Given the description of an element on the screen output the (x, y) to click on. 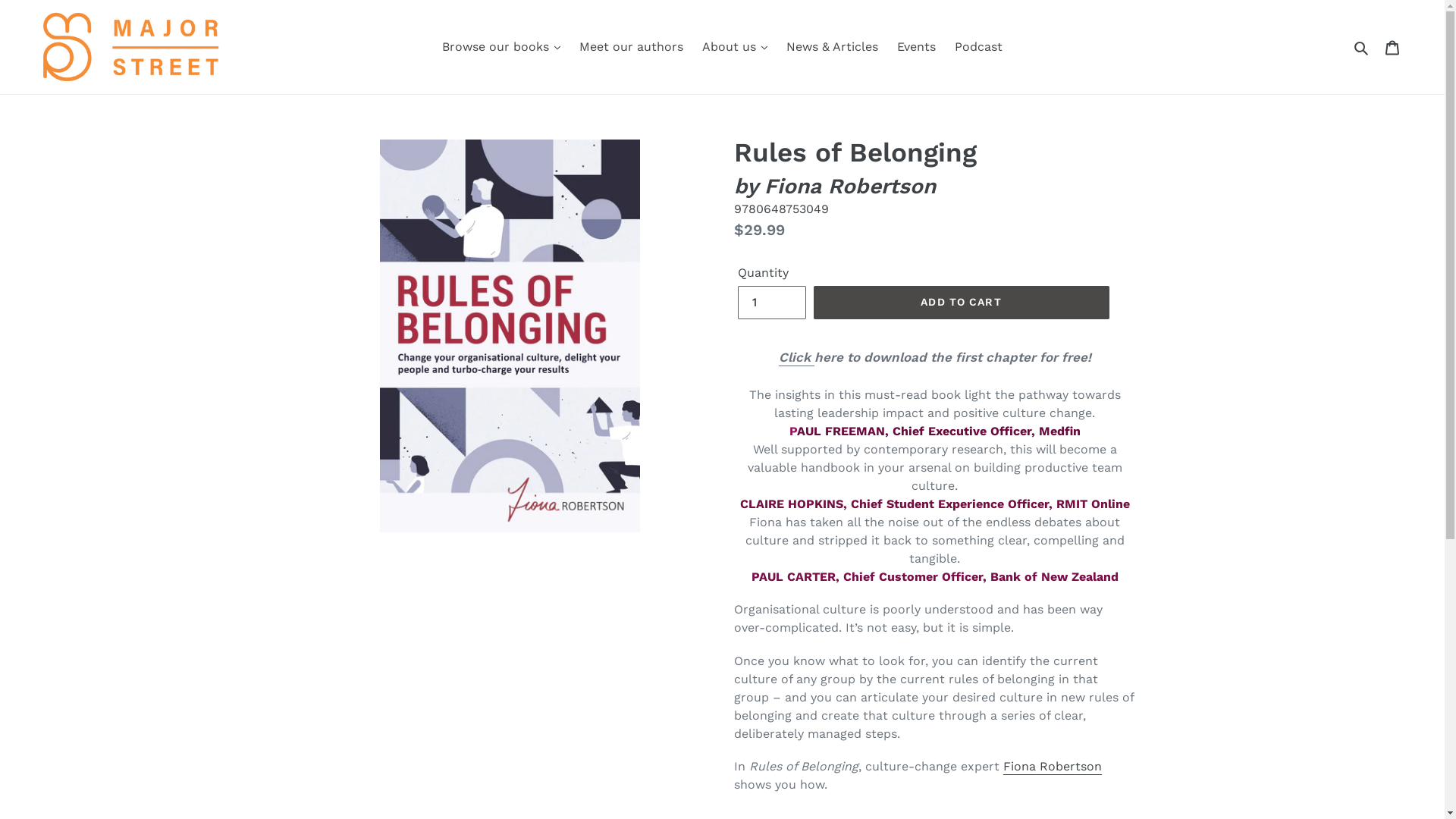
News & Articles Element type: text (831, 46)
Podcast Element type: text (978, 46)
Fiona Robertson Element type: text (1051, 767)
Click Element type: text (795, 357)
Submit Element type: text (1362, 46)
Cart Element type: text (1393, 46)
Meet our authors Element type: text (630, 46)
Events Element type: text (916, 46)
ADD TO CART Element type: text (960, 302)
